Given the description of an element on the screen output the (x, y) to click on. 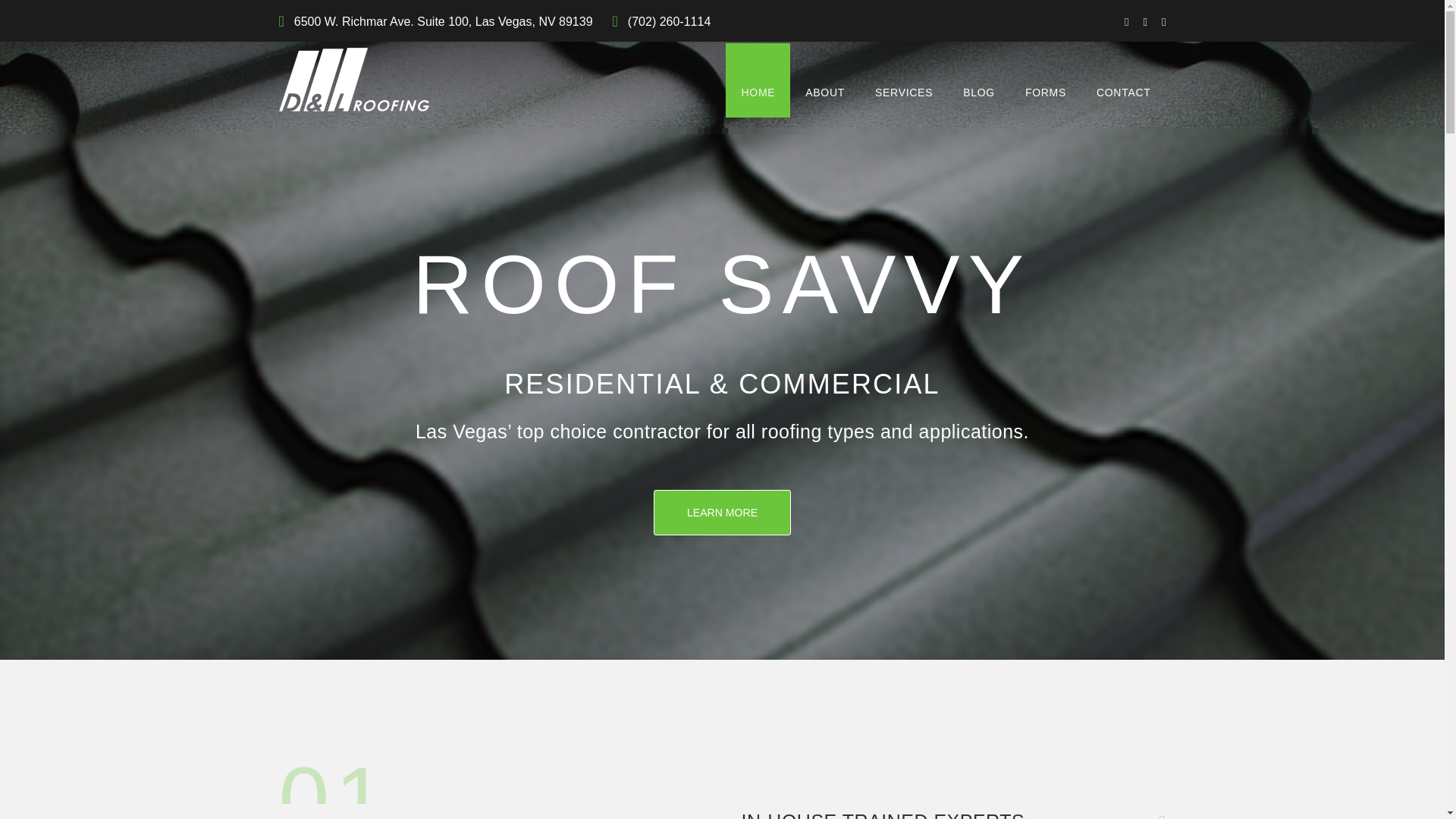
CONTACT (1123, 80)
FORMS (1045, 80)
ABOUT (825, 80)
SERVICES (903, 80)
